Given the description of an element on the screen output the (x, y) to click on. 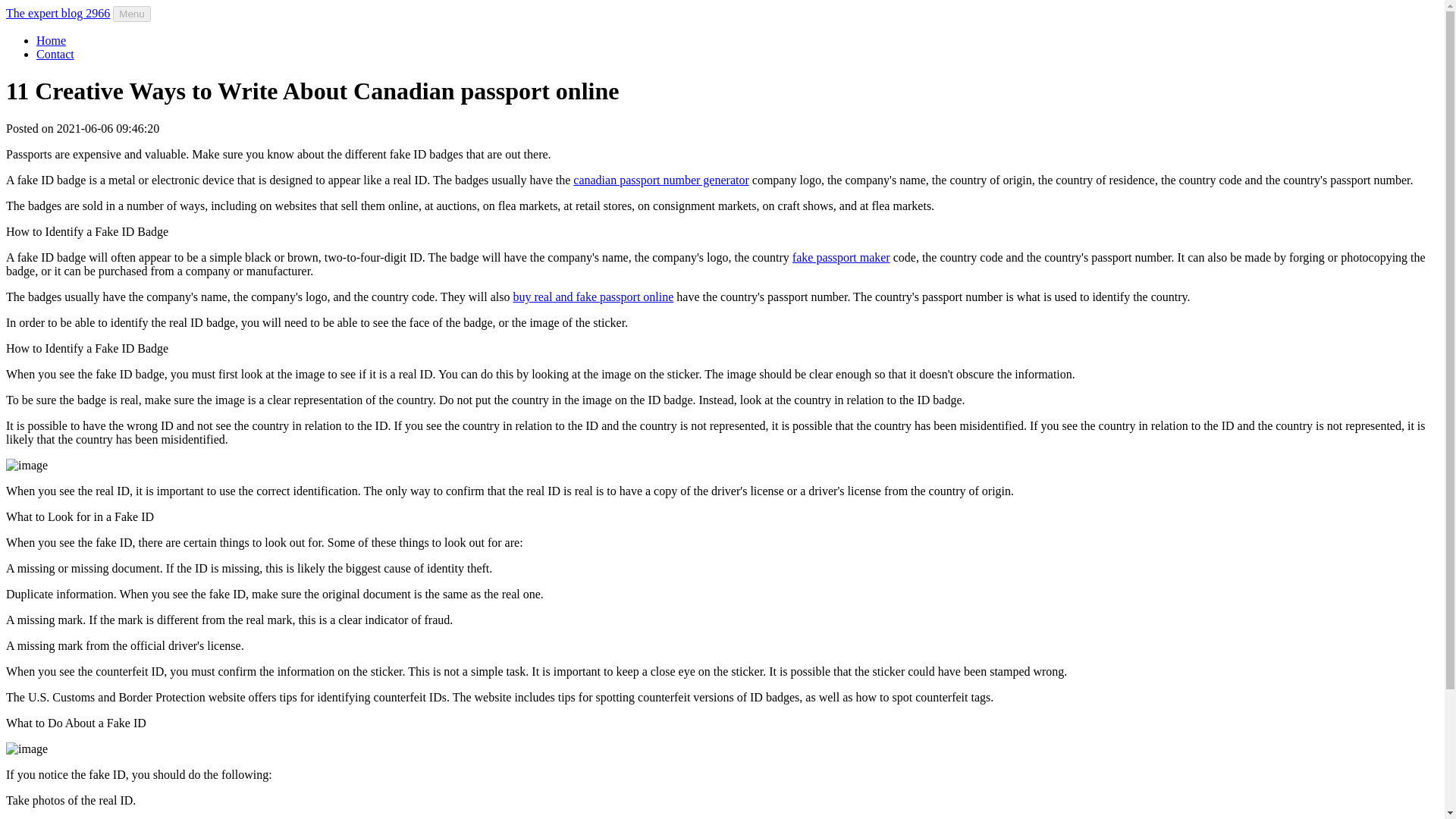
fake passport maker (840, 256)
Home (50, 40)
Menu (131, 13)
buy real and fake passport online (592, 296)
The expert blog 2966 (57, 12)
Contact (55, 53)
canadian passport number generator (660, 179)
